Given the description of an element on the screen output the (x, y) to click on. 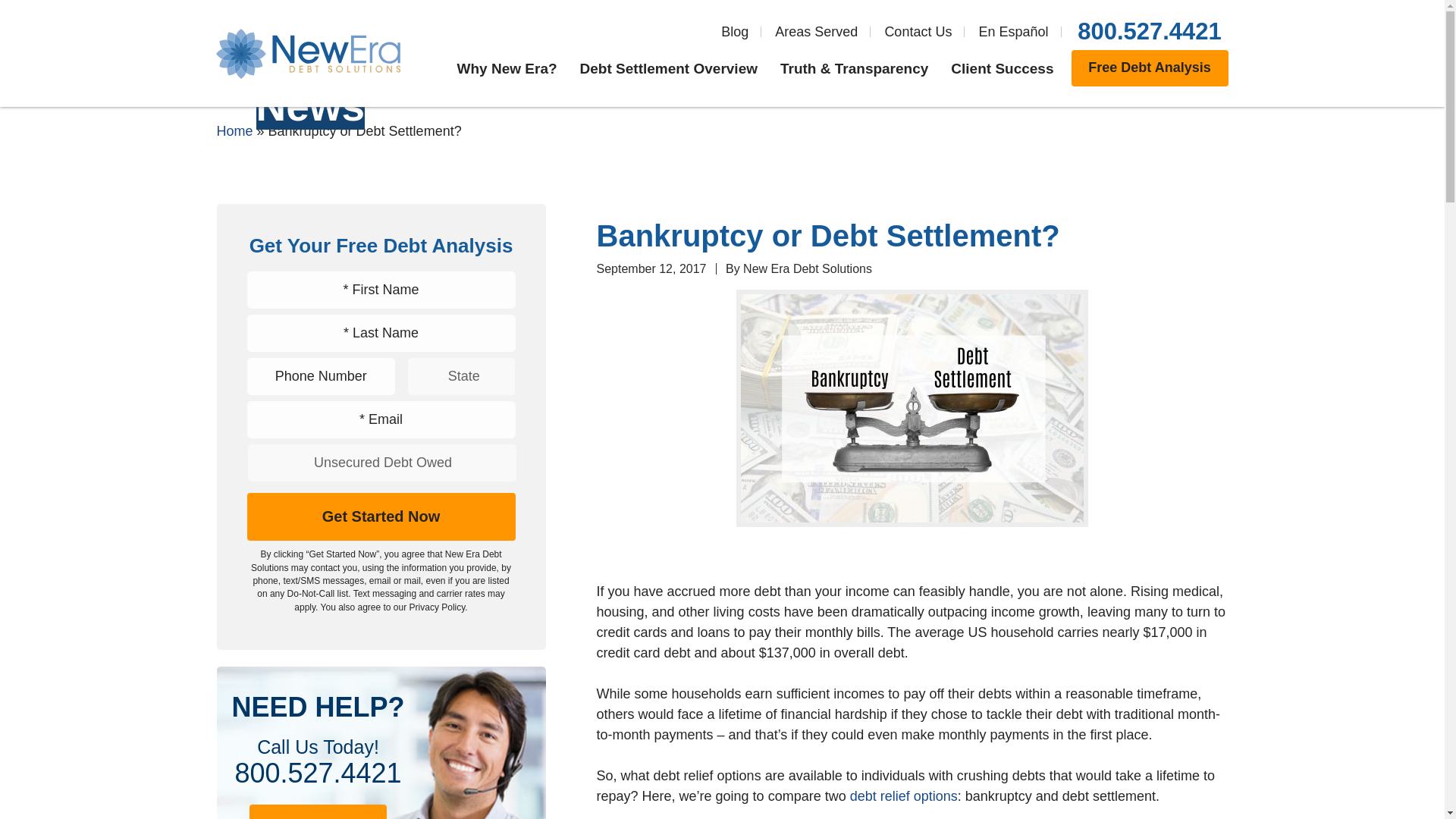
Get Started Now (381, 516)
Contact Us (917, 31)
Phone Number (321, 375)
Debt Settlement Overview (668, 68)
Blog (734, 31)
Posts by New Era Debt Solutions (807, 268)
New Era Debt Solutions (807, 268)
Free Debt Analysis (1148, 67)
Why New Era? (507, 68)
September 12, 2017 (650, 268)
